Given the description of an element on the screen output the (x, y) to click on. 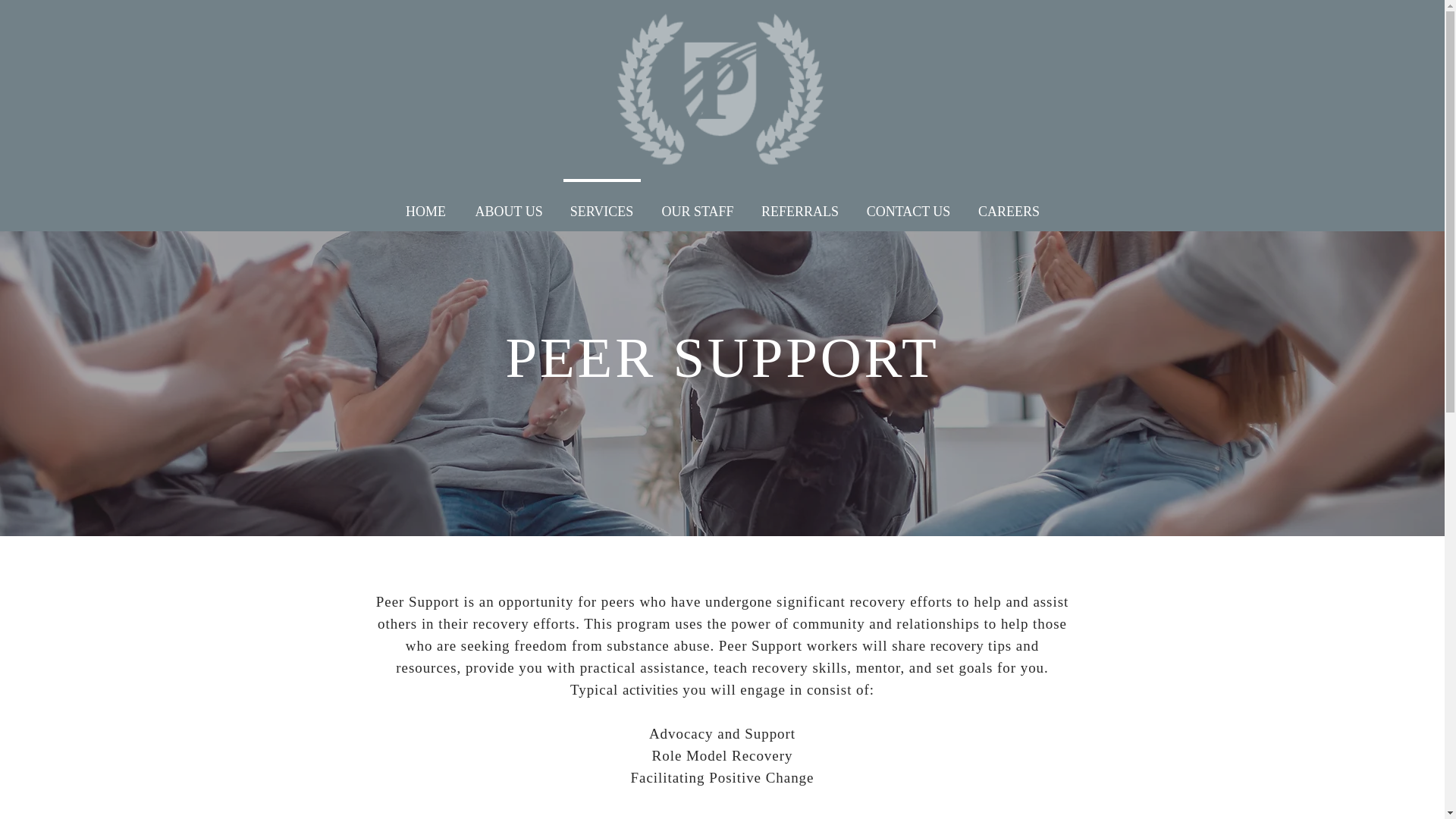
CONTACT US (907, 204)
REFERRALS (800, 204)
SERVICES (600, 204)
OUR STAFF (696, 204)
CAREERS (1008, 204)
ABOUT US (507, 204)
HOME (425, 204)
